Given the description of an element on the screen output the (x, y) to click on. 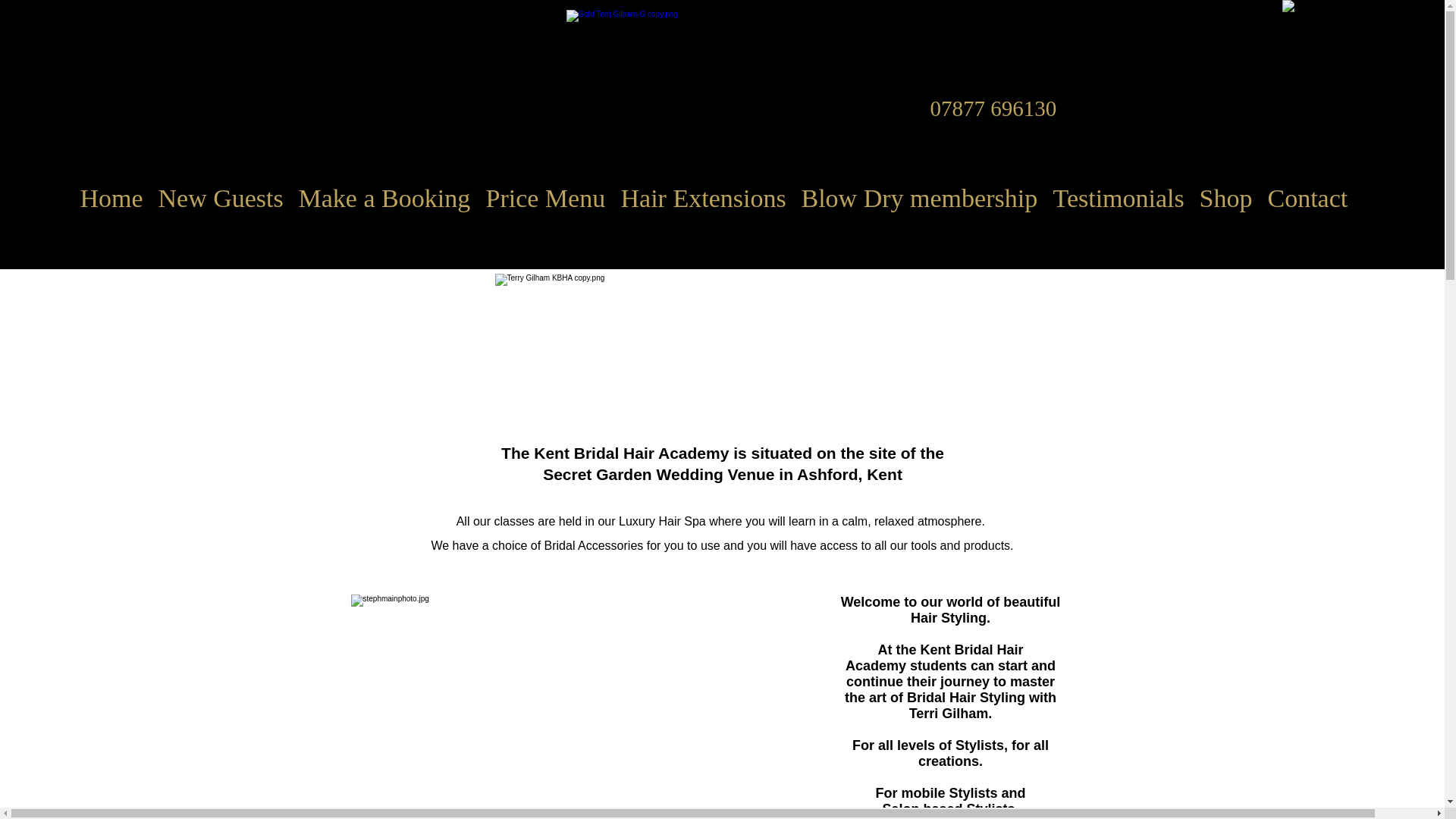
Price Menu (544, 198)
Make a Booking (385, 198)
Blow Dry membership (919, 198)
Testimonials (1118, 198)
New Guests (219, 198)
Contact (1307, 198)
Home (111, 198)
Hair Extensions (702, 198)
Shop (1226, 198)
